Given the description of an element on the screen output the (x, y) to click on. 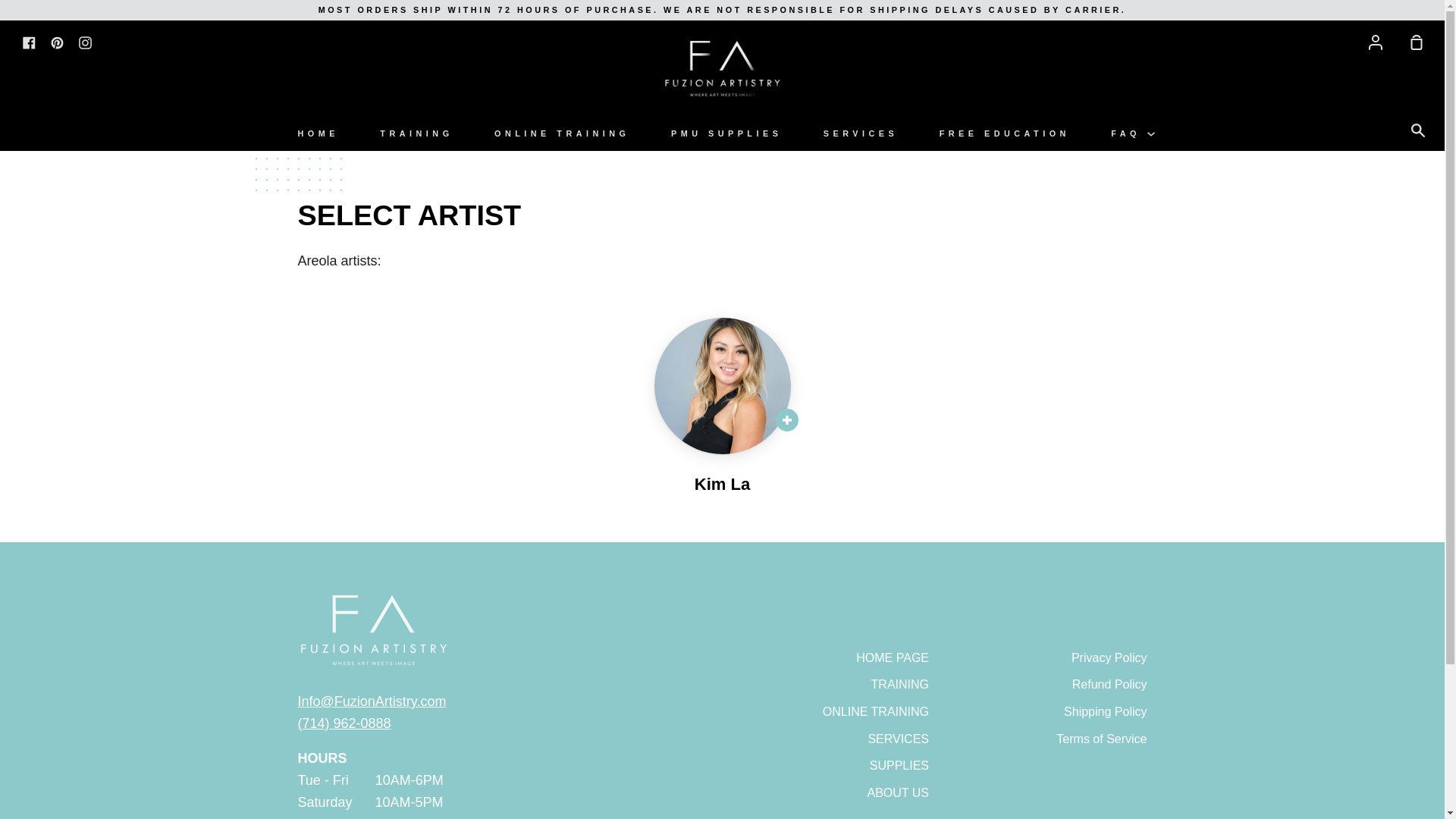
Fuzion Artistry on Facebook (28, 41)
Fuzion Artistry on Instagram (84, 41)
Account (1375, 41)
PMU SUPPLIES (726, 132)
FREE EDUCATION (1005, 132)
ONLINE TRAINING (561, 132)
Pinterest (57, 41)
TRAINING (416, 132)
Facebook (28, 41)
Instagram (84, 41)
